Given the description of an element on the screen output the (x, y) to click on. 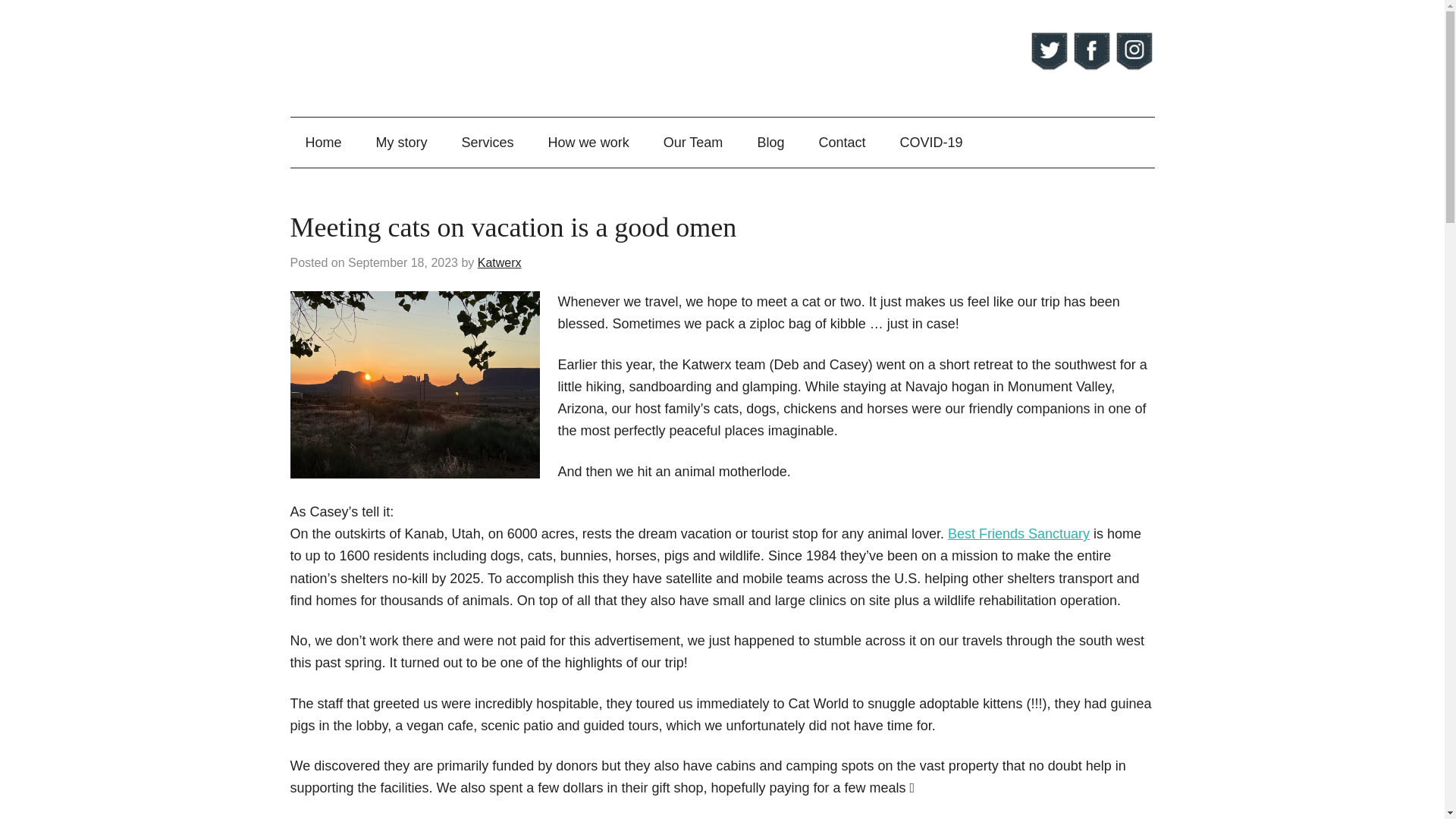
Blog (770, 142)
Visit Us On Facebook (1090, 67)
Meeting cats on vacation is a good omen (512, 227)
How we work (588, 142)
Contact (841, 142)
How we work (588, 142)
Best Friends Sanctuary (1018, 533)
Our Team (692, 142)
COVID-19 (929, 142)
Home (322, 142)
My story (401, 142)
Home (322, 142)
katwerx (440, 58)
Services (487, 142)
My story (401, 142)
